Given the description of an element on the screen output the (x, y) to click on. 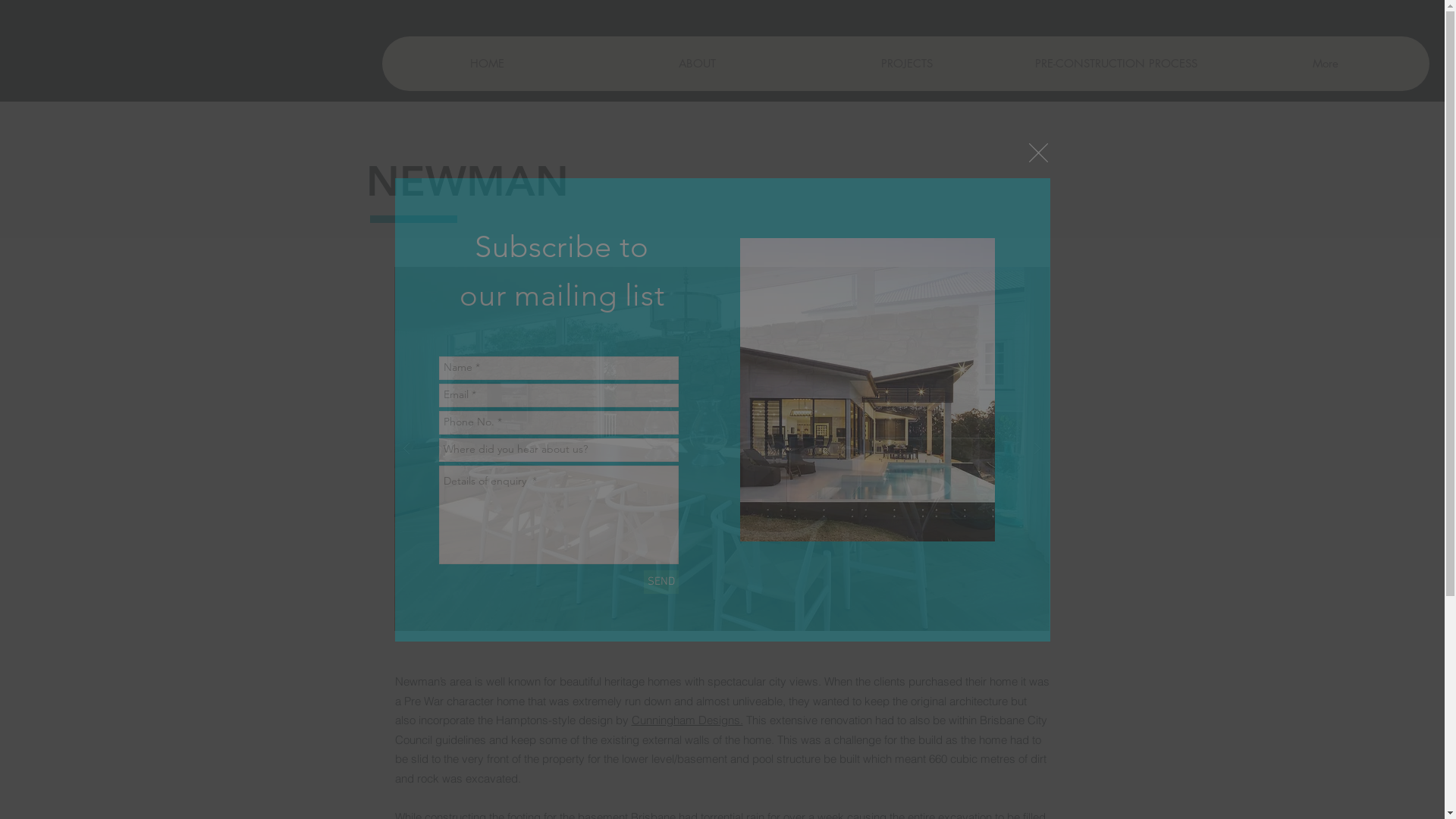
Back to site Element type: hover (1037, 151)
SEND Element type: text (660, 581)
HOME Element type: text (487, 63)
PRE-CONSTRUCTION PROCESS Element type: text (1115, 63)
PROJECTS Element type: text (905, 63)
Cunningham Designs. Element type: text (686, 719)
ABOUT Element type: text (696, 63)
